Given the description of an element on the screen output the (x, y) to click on. 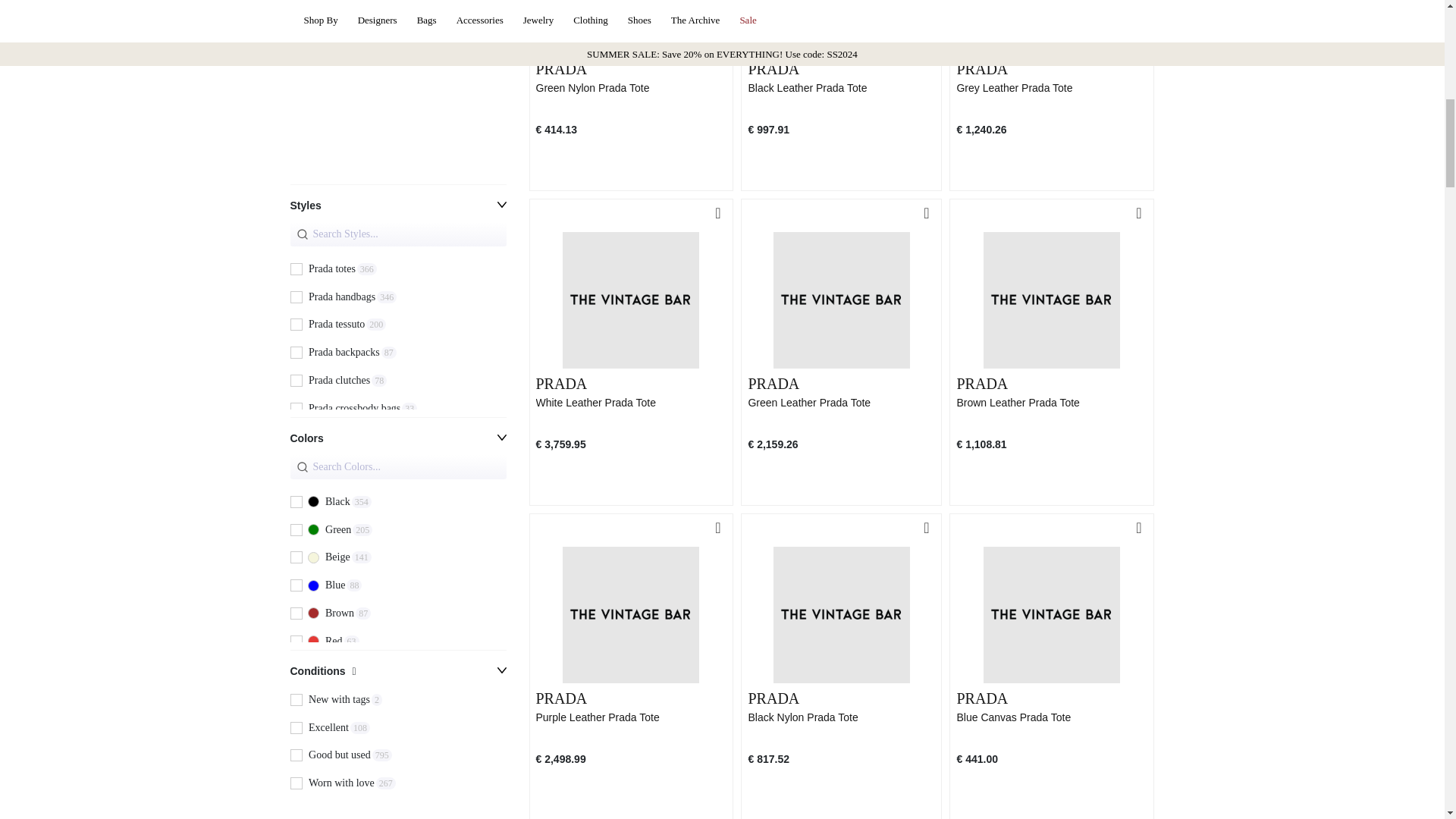
prada-handbags (295, 297)
Grey Leather Prada Tote (397, 100)
prada-bags (1051, 87)
Purple Leather Prada Tote (295, 82)
Black Leather Prada Tote (630, 716)
Styles (841, 87)
Black Nylon Prada Tote (397, 301)
Designers (841, 716)
Brown Leather Prada Tote (397, 92)
prada (1051, 402)
prada-totes (295, 36)
